Given the description of an element on the screen output the (x, y) to click on. 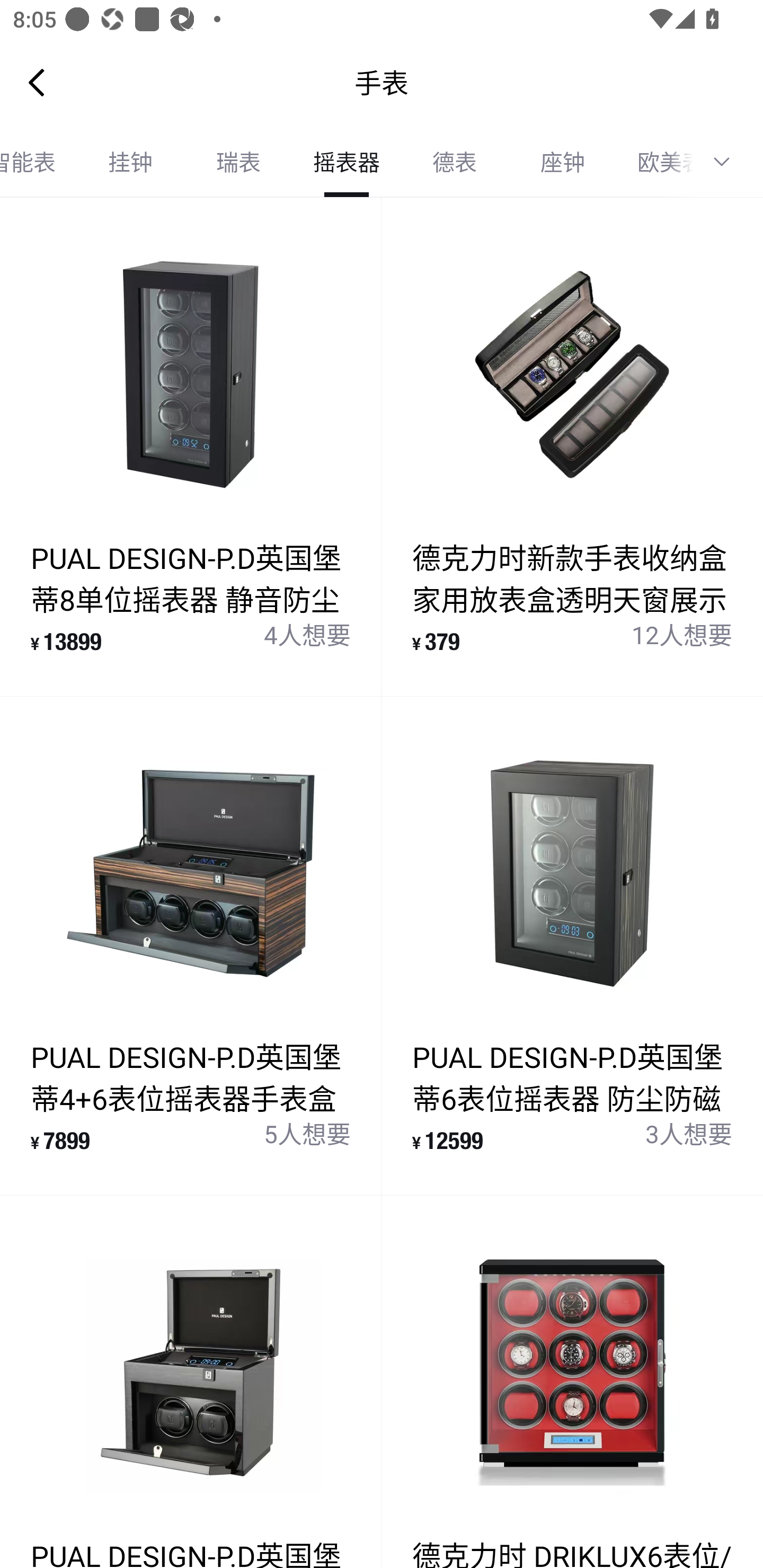
Navigate up (36, 82)
智能表 (38, 162)
挂钟 (130, 162)
瑞表 (238, 162)
摇表器 (346, 162)
德表 (454, 162)
座钟 (562, 162)
欧美表 (654, 162)
 (727, 162)
德克力时 DRIKLUX6表位/
9表位摇表器 指纹解锁防
磁静音收纳盒 黑色红色 
男女同款 (572, 1381)
